Given the description of an element on the screen output the (x, y) to click on. 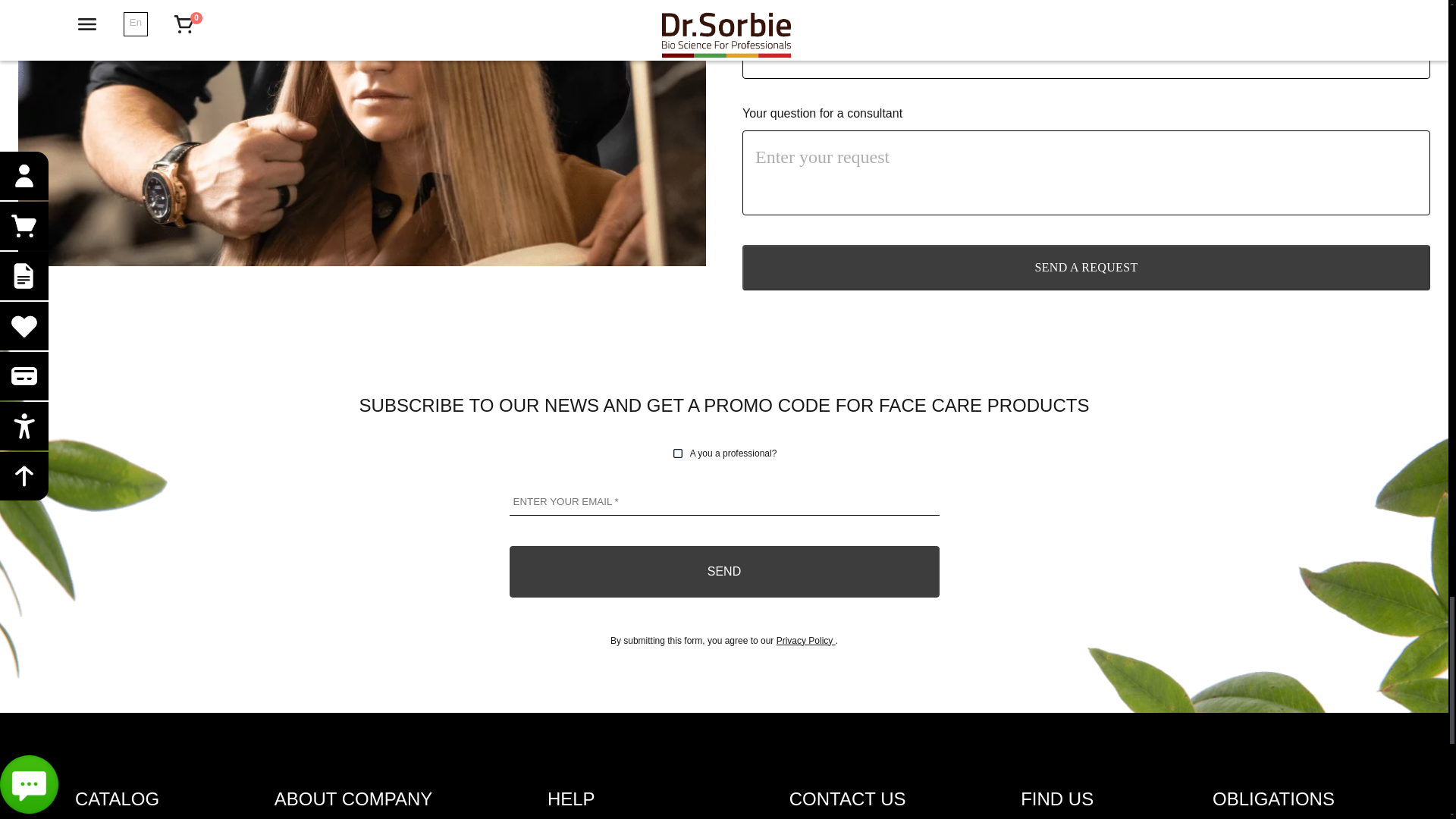
send a request (1085, 267)
SEND (724, 571)
send a request (1085, 267)
SEND (724, 571)
Enter your email (724, 501)
Privacy Policy (805, 640)
